Given the description of an element on the screen output the (x, y) to click on. 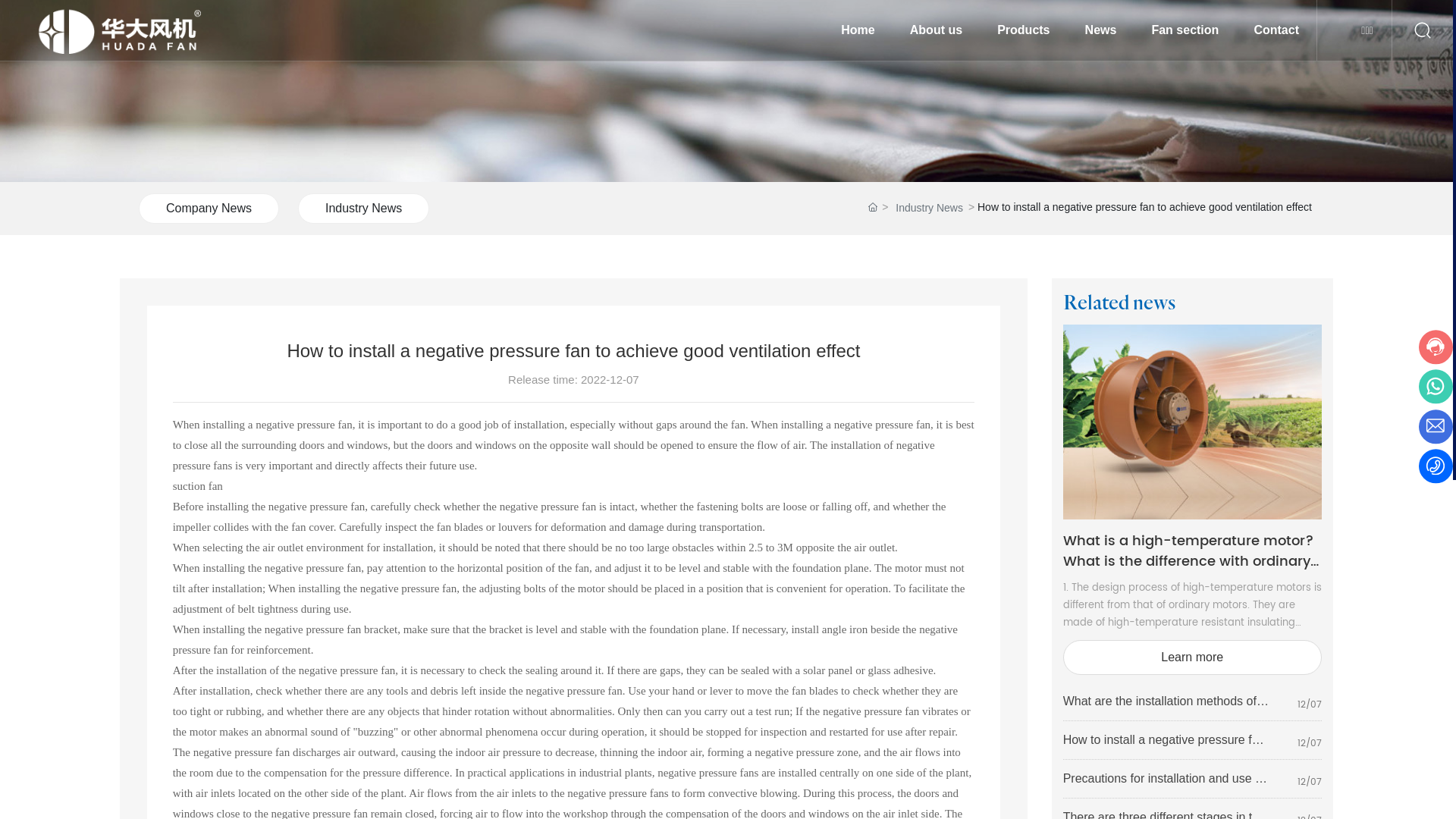
News Element type: text (1100, 30)
Industry News Element type: text (363, 208)
Huada Element type: hover (128, 29)
About us Element type: text (935, 30)
Learn more Element type: text (1192, 657)
Products Element type: text (1022, 30)
Industry News Element type: text (929, 207)
Huada Element type: hover (726, 91)
Contact Element type: text (1276, 30)
What are the installation methods of centrifugal fans Element type: text (1165, 707)
Home Element type: text (857, 30)
Fan section Element type: text (1184, 30)
Company News Element type: text (208, 208)
Huada Element type: hover (1192, 421)
